Given the description of an element on the screen output the (x, y) to click on. 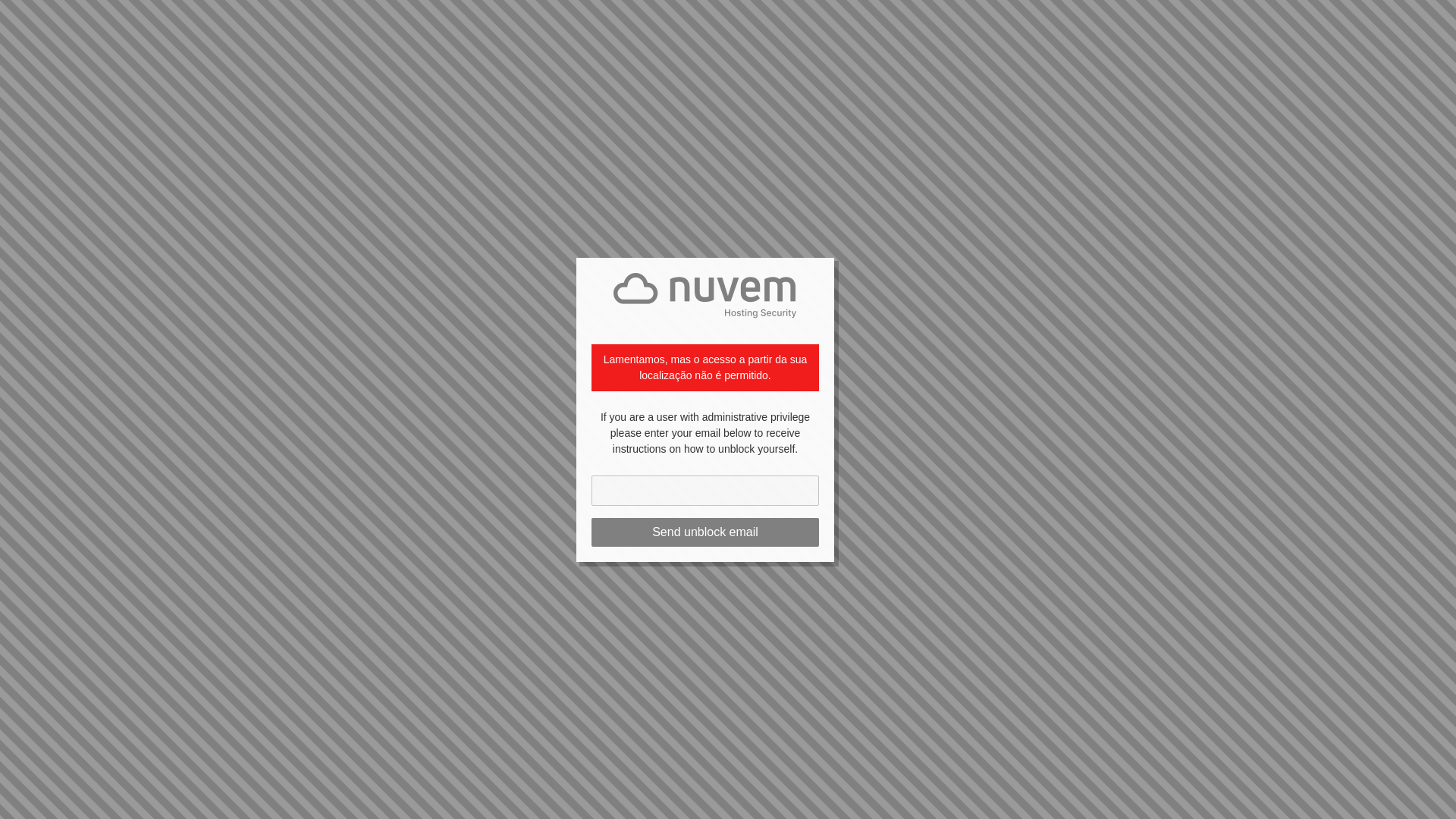
Send unblock email (704, 532)
Send unblock email (704, 532)
